Given the description of an element on the screen output the (x, y) to click on. 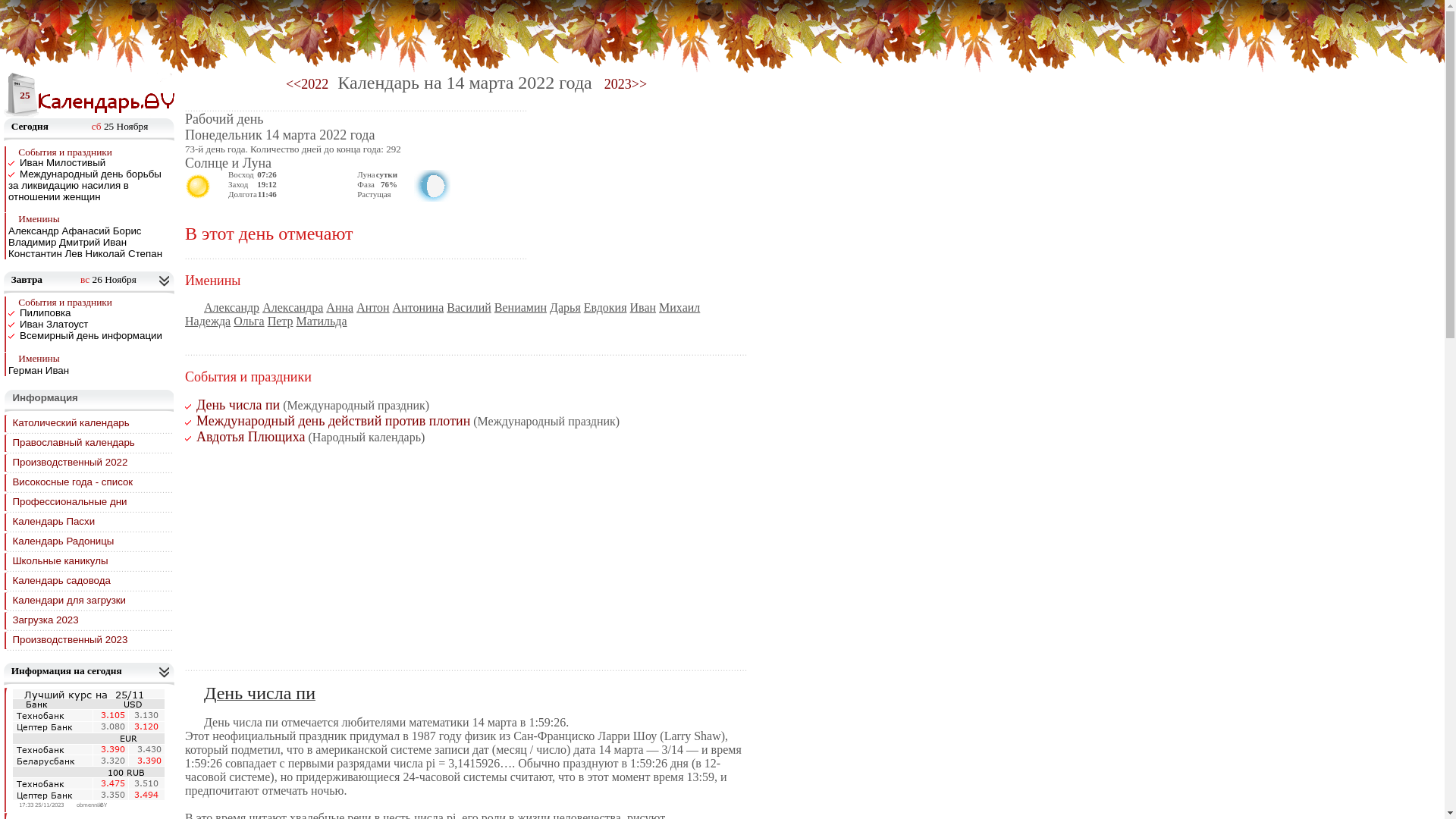
   25 Element type: text (21, 95)
2023>> Element type: text (623, 84)
<<2022 Element type: text (306, 84)
